Given the description of an element on the screen output the (x, y) to click on. 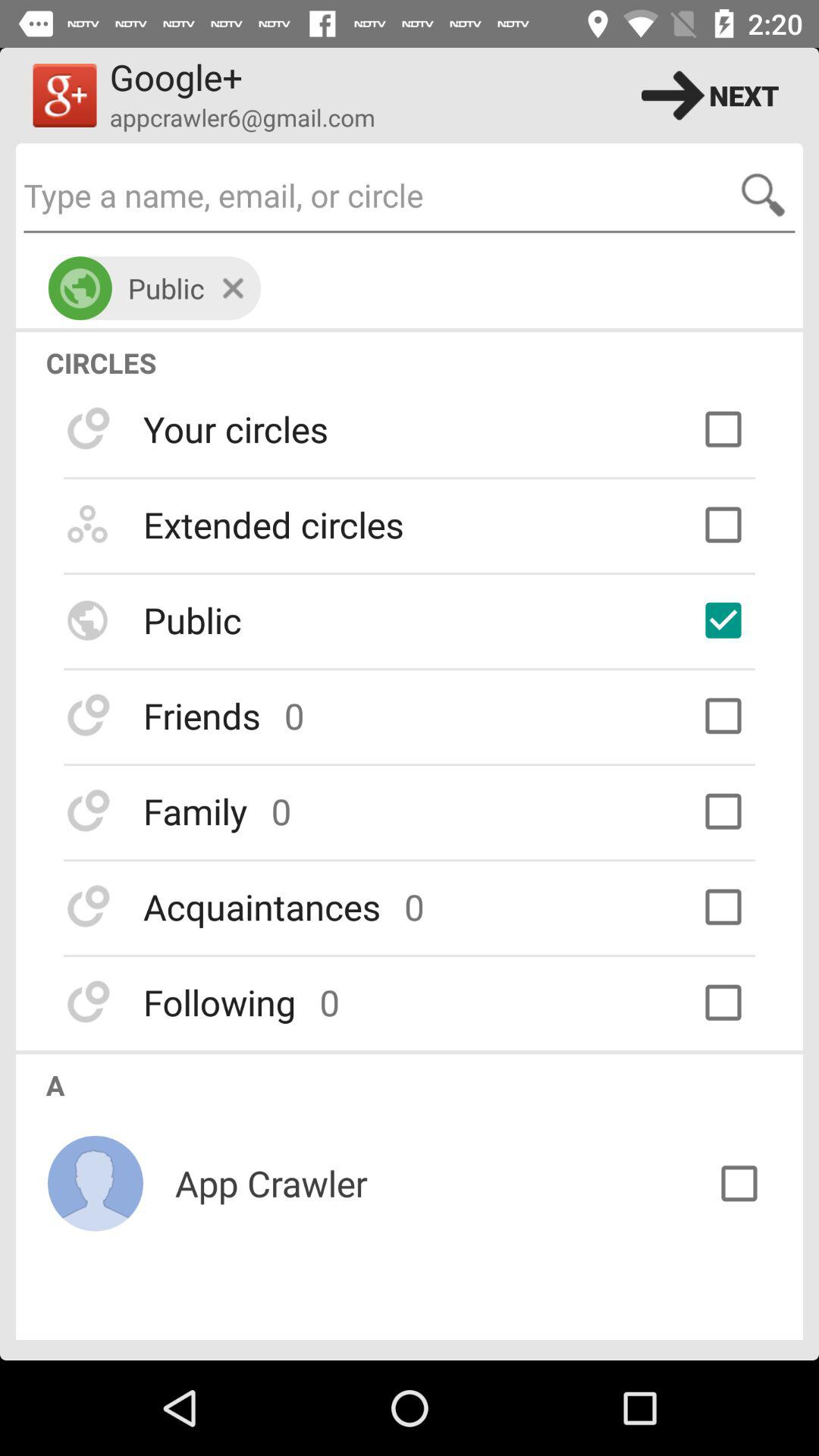
tap the next icon (710, 95)
